Given the description of an element on the screen output the (x, y) to click on. 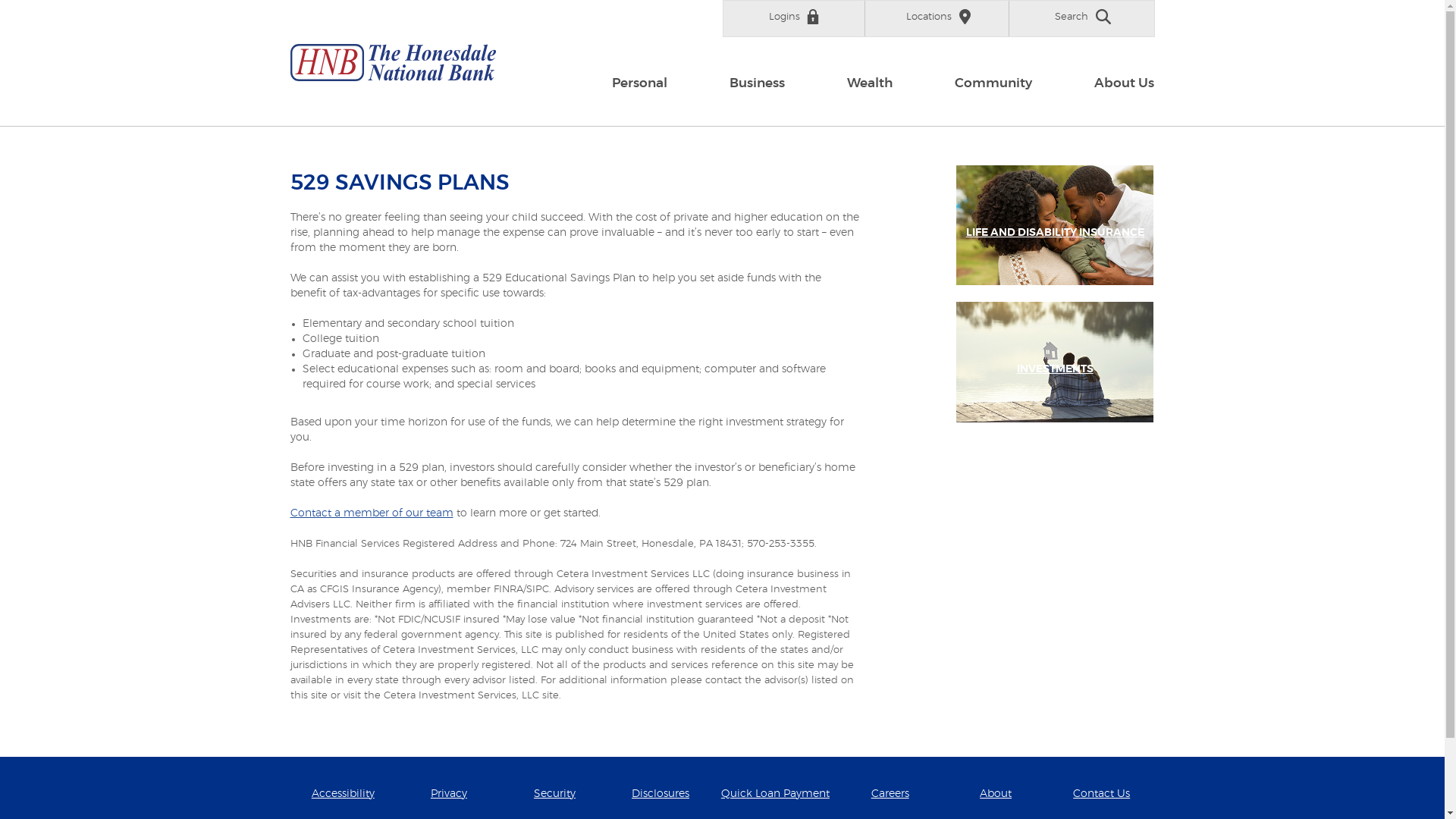
The Honesdale National Bank, Honesdale, PA Element type: hover (392, 62)
Accessibility Element type: text (342, 793)
Disclosures Element type: text (660, 793)
Search Element type: text (1082, 16)
Quick Loan Payment
(Opens in a new Window) Element type: text (775, 793)
Privacy Element type: text (448, 793)
About Element type: text (995, 793)
INVESTMENTS Element type: text (1054, 369)
Contact Us Element type: text (1101, 793)
Logins Element type: text (793, 16)
LIFE AND DISABILITY INSURANCE Element type: text (1055, 232)
Locations Element type: text (937, 16)
Security Element type: text (554, 793)
Contact a member of our team Element type: text (370, 513)
Careers Element type: text (890, 793)
